Given the description of an element on the screen output the (x, y) to click on. 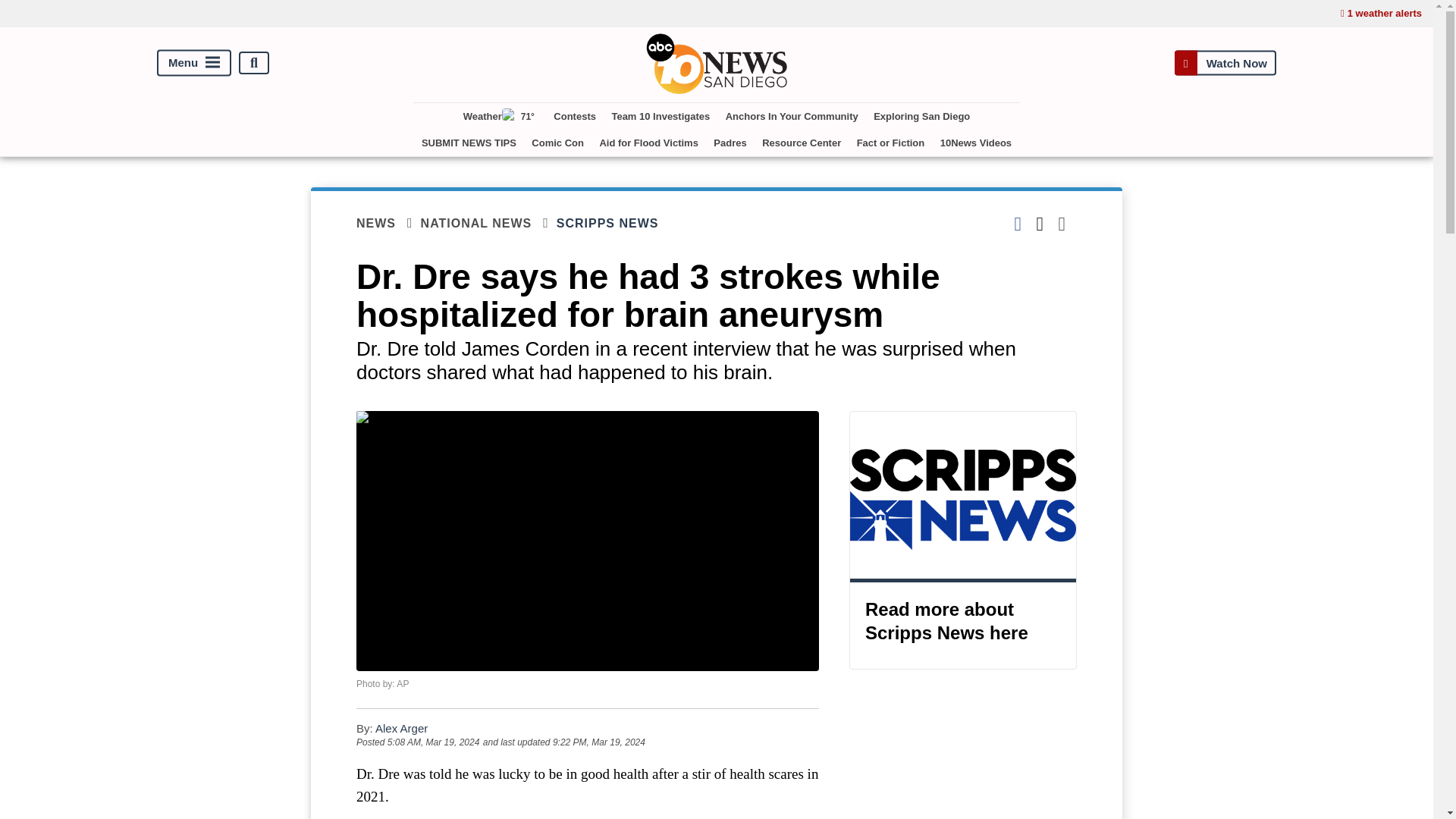
Menu (194, 62)
Watch Now (1224, 62)
